Given the description of an element on the screen output the (x, y) to click on. 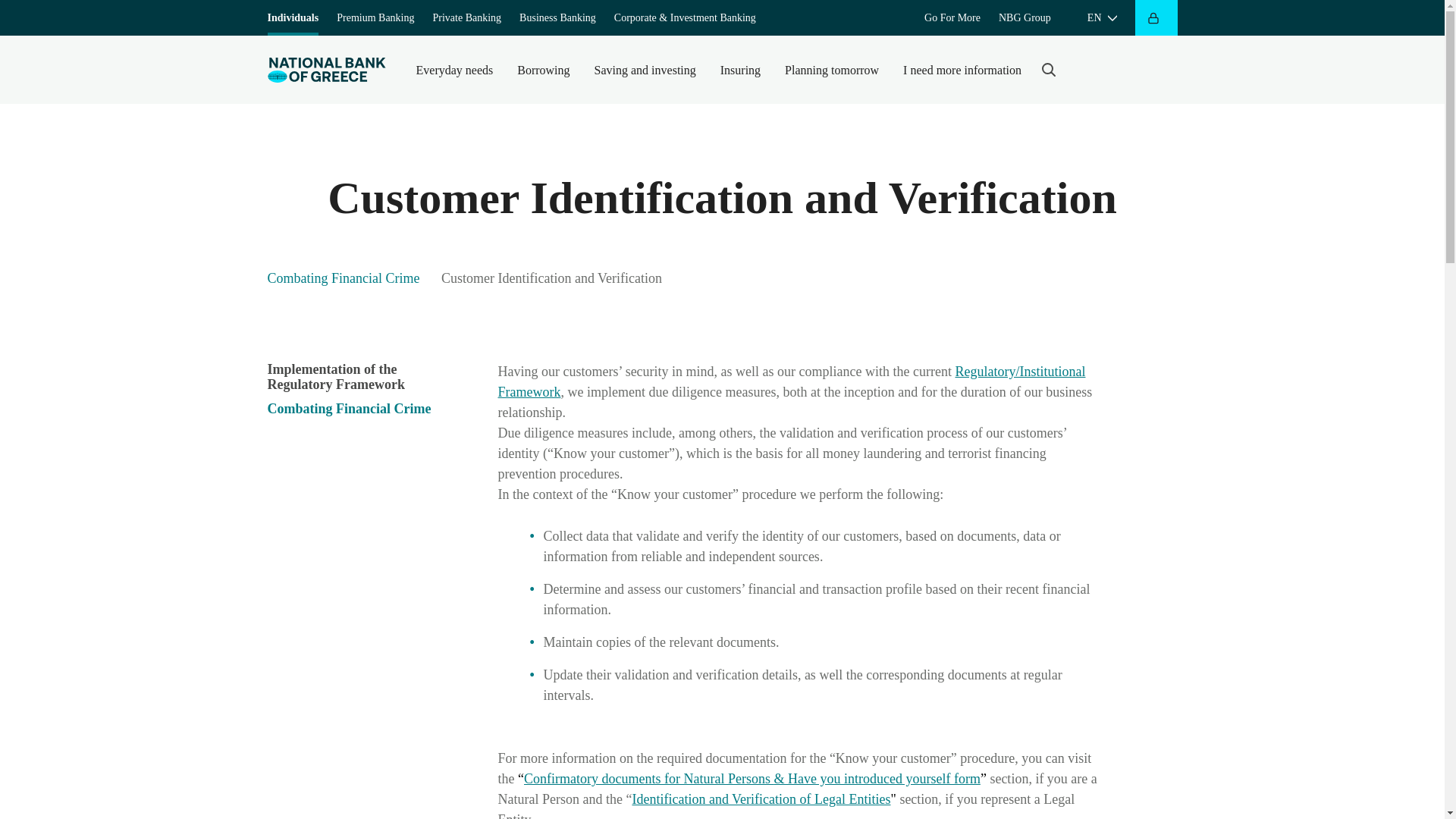
NBG Group (1024, 18)
Business Banking (557, 18)
Go For More (951, 18)
EN (1101, 18)
Everyday needs (453, 69)
Private Banking (466, 18)
Premium Banking (374, 18)
Individuals (292, 18)
